Given the description of an element on the screen output the (x, y) to click on. 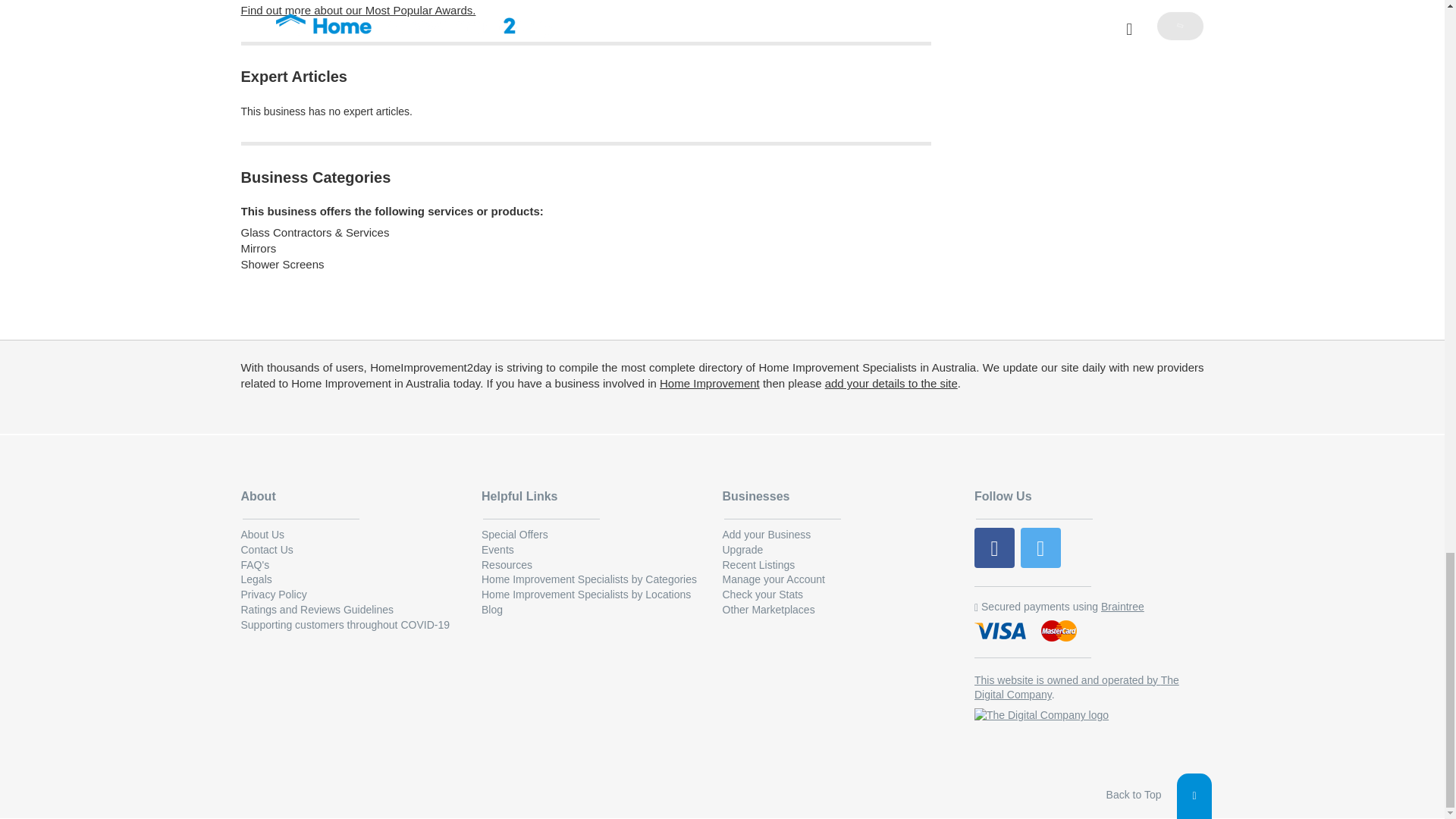
MasterCard (1059, 632)
Visa (1001, 632)
